Given the description of an element on the screen output the (x, y) to click on. 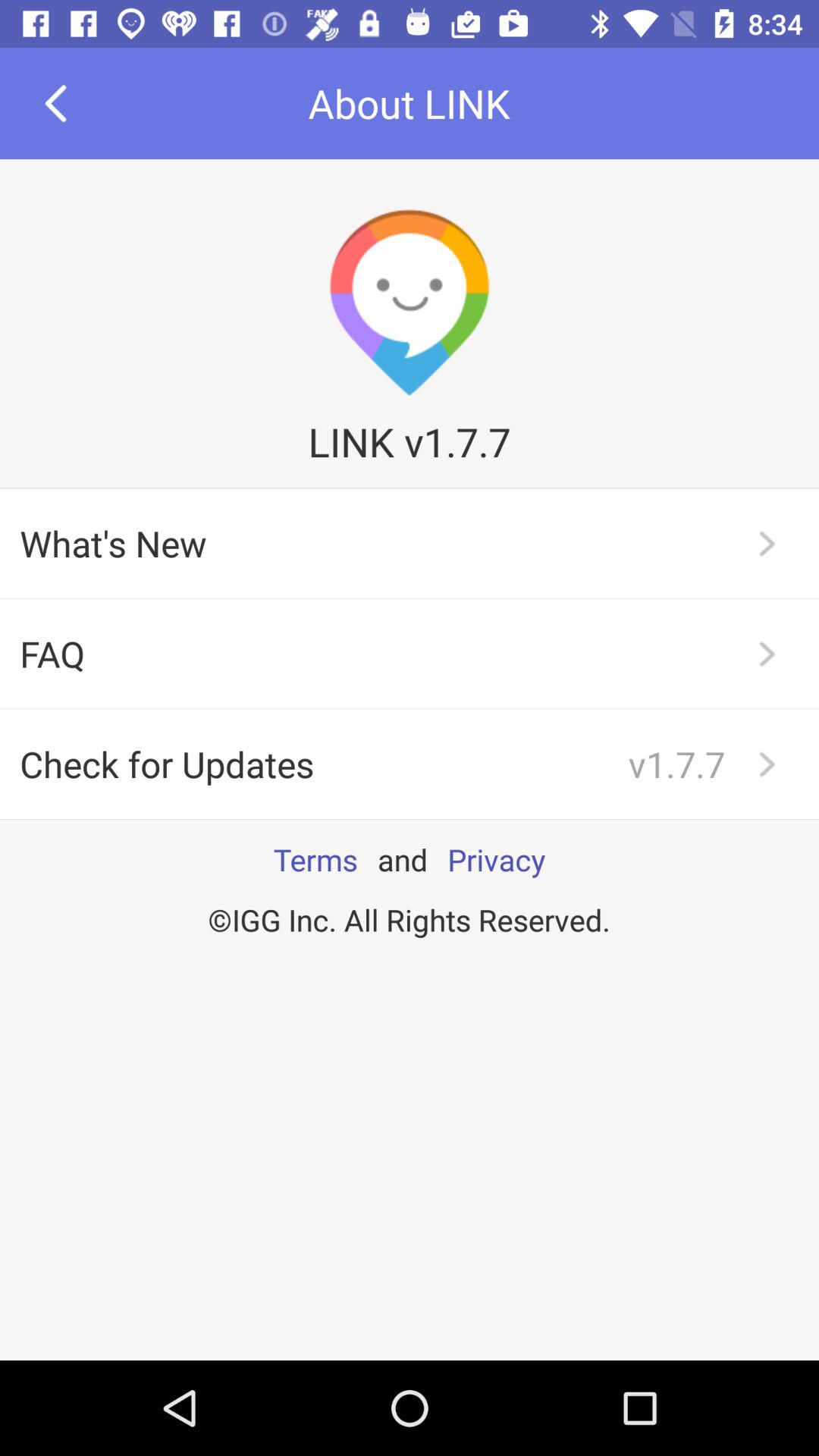
jump to the terms app (315, 859)
